Given the description of an element on the screen output the (x, y) to click on. 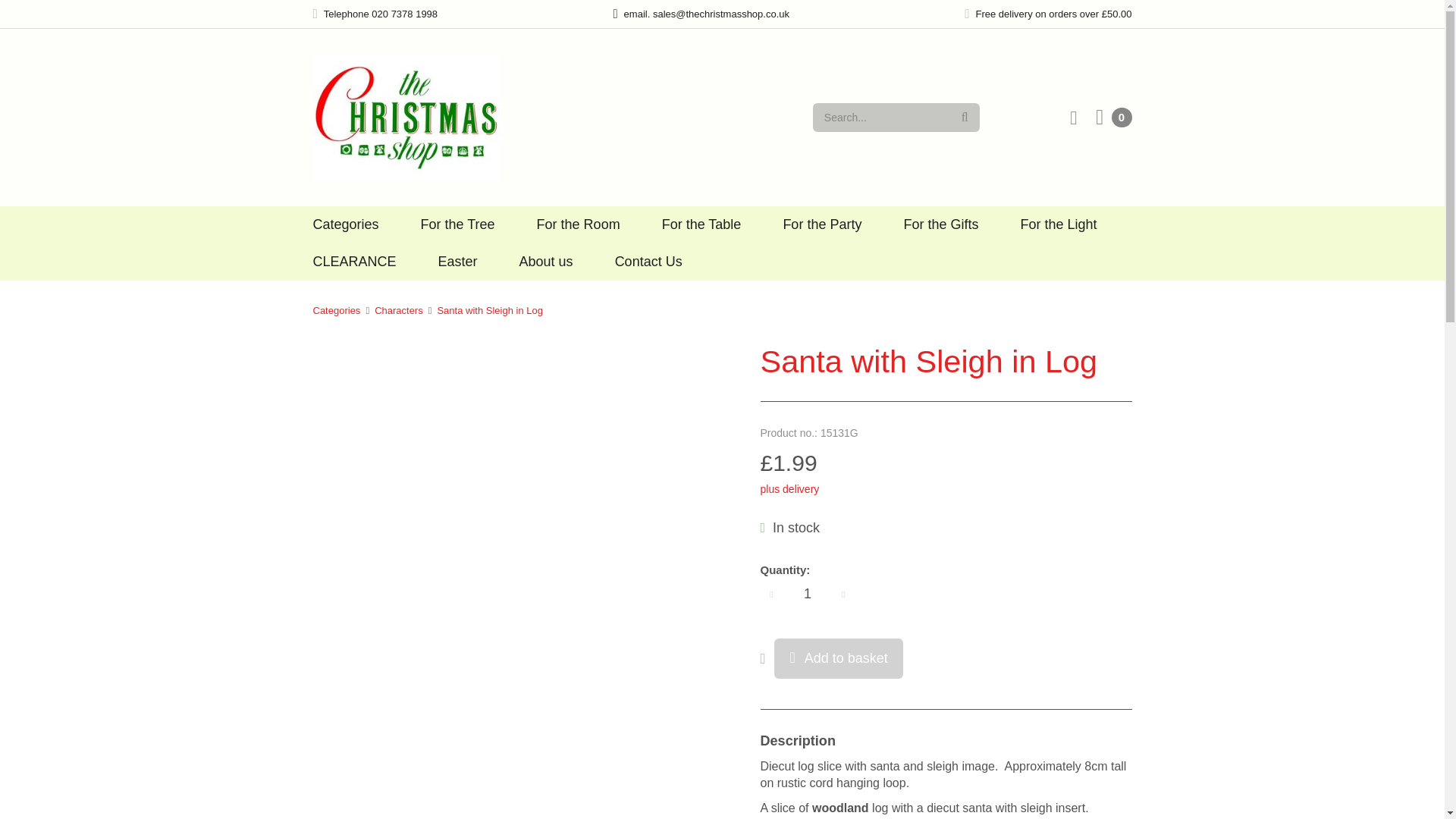
For the Gifts (940, 224)
Characters (398, 310)
For the Table (701, 224)
plus delivery (789, 489)
Santa with Sleigh in Log (488, 310)
CLEARANCE (354, 261)
About us (546, 261)
1 (807, 593)
Categories (336, 310)
